Given the description of an element on the screen output the (x, y) to click on. 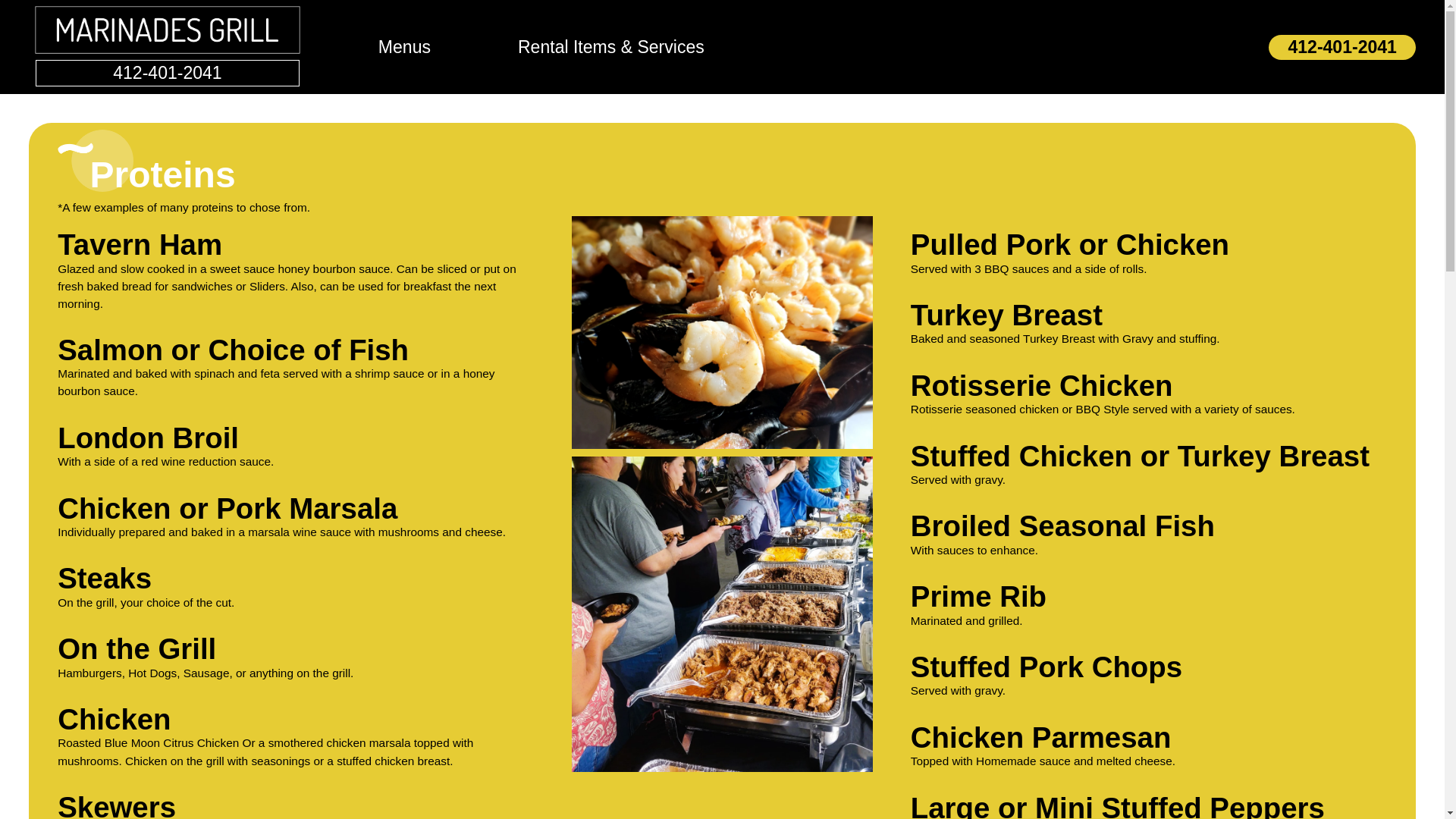
412-401-2041 (1341, 47)
Menus (403, 46)
412-401-2041 (167, 72)
